Given the description of an element on the screen output the (x, y) to click on. 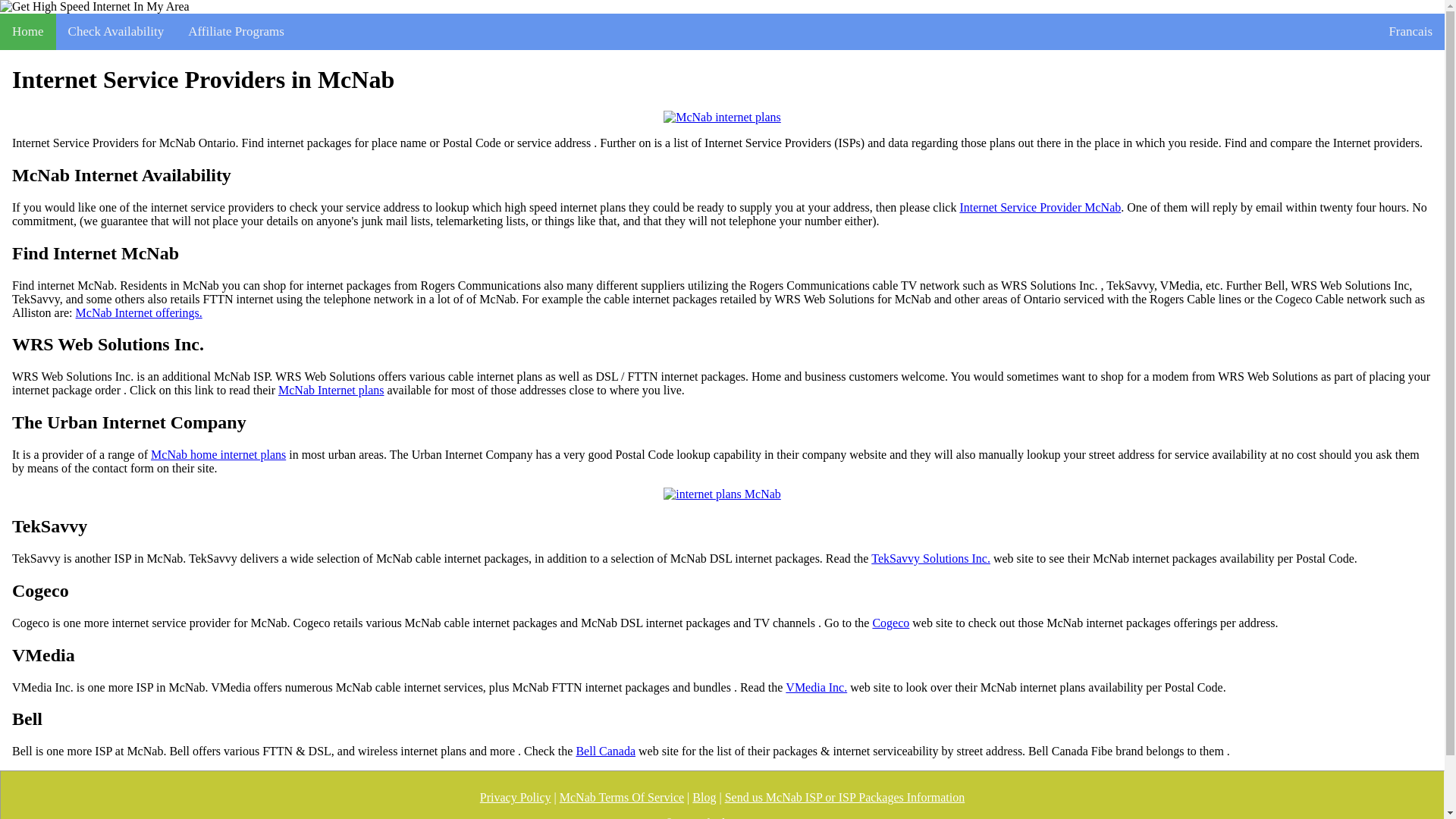
McNab Internet plans (331, 390)
Cogeco (890, 622)
TekSavvy Solutions Inc. (930, 558)
Send us McNab ISP or ISP Packages Information (845, 797)
McNab Internet offerings. (138, 313)
Privacy Policy (515, 797)
Check Availability (116, 31)
Affiliate Programs (236, 31)
McNab home internet plans (218, 454)
Home (28, 31)
